Given the description of an element on the screen output the (x, y) to click on. 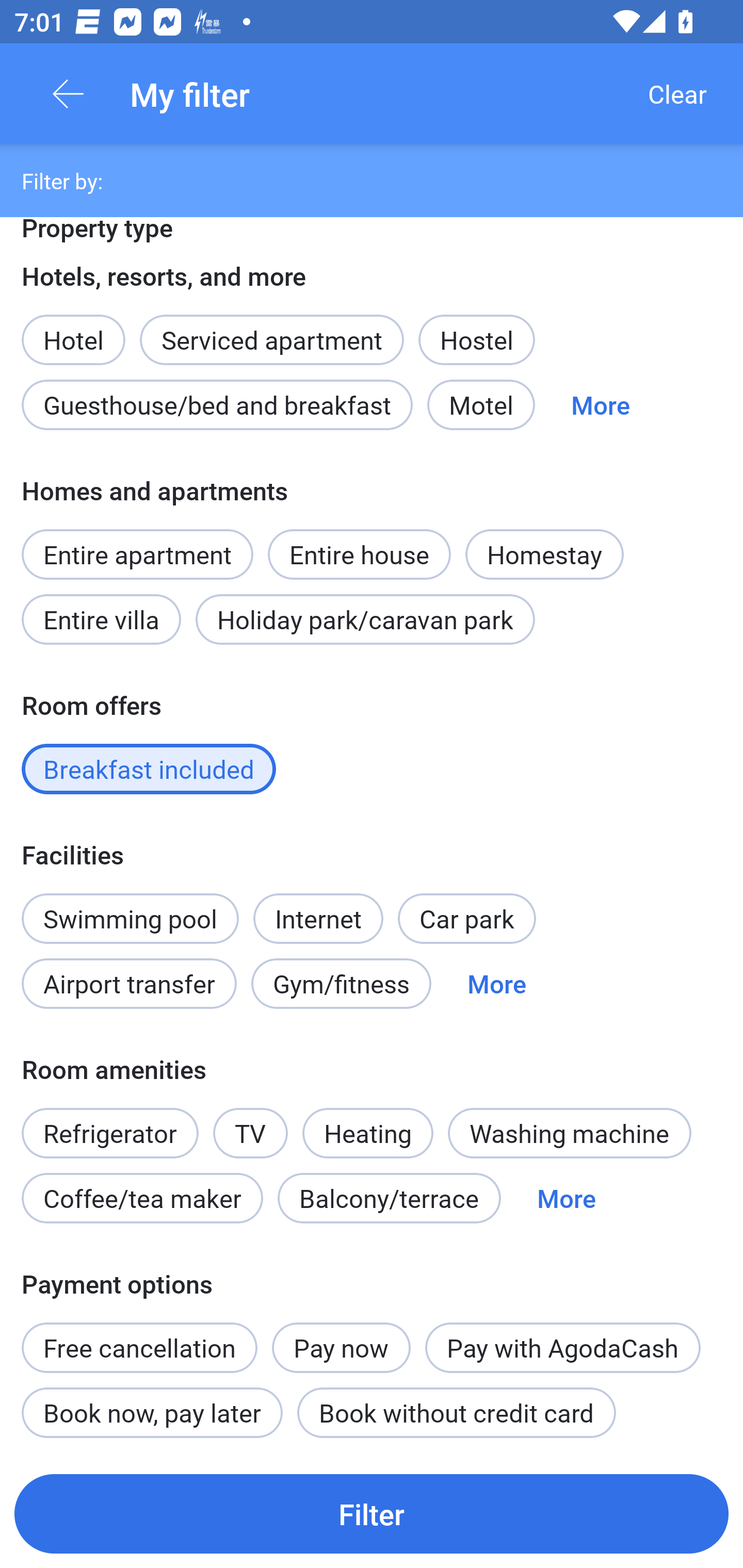
Clear (676, 93)
Hotel (73, 329)
Serviced apartment (271, 329)
Hostel (476, 339)
Guesthouse/bed and breakfast (217, 405)
Motel (480, 405)
More (600, 405)
Entire apartment (137, 554)
Entire house (359, 543)
Homestay (544, 554)
Entire villa (101, 619)
Holiday park/caravan park (364, 619)
Swimming pool (130, 917)
Internet (318, 907)
Car park (466, 917)
Airport transfer (129, 983)
Gym/fitness (341, 983)
More (496, 983)
Refrigerator (109, 1122)
TV (250, 1132)
Heating (367, 1122)
Washing machine (569, 1132)
Coffee/tea maker (142, 1198)
Balcony/terrace (388, 1198)
More (566, 1198)
Free cancellation (139, 1336)
Pay now (340, 1347)
Pay with AgodaCash (562, 1347)
Book now, pay later (152, 1412)
Book without credit card (456, 1412)
Filter (371, 1513)
